Given the description of an element on the screen output the (x, y) to click on. 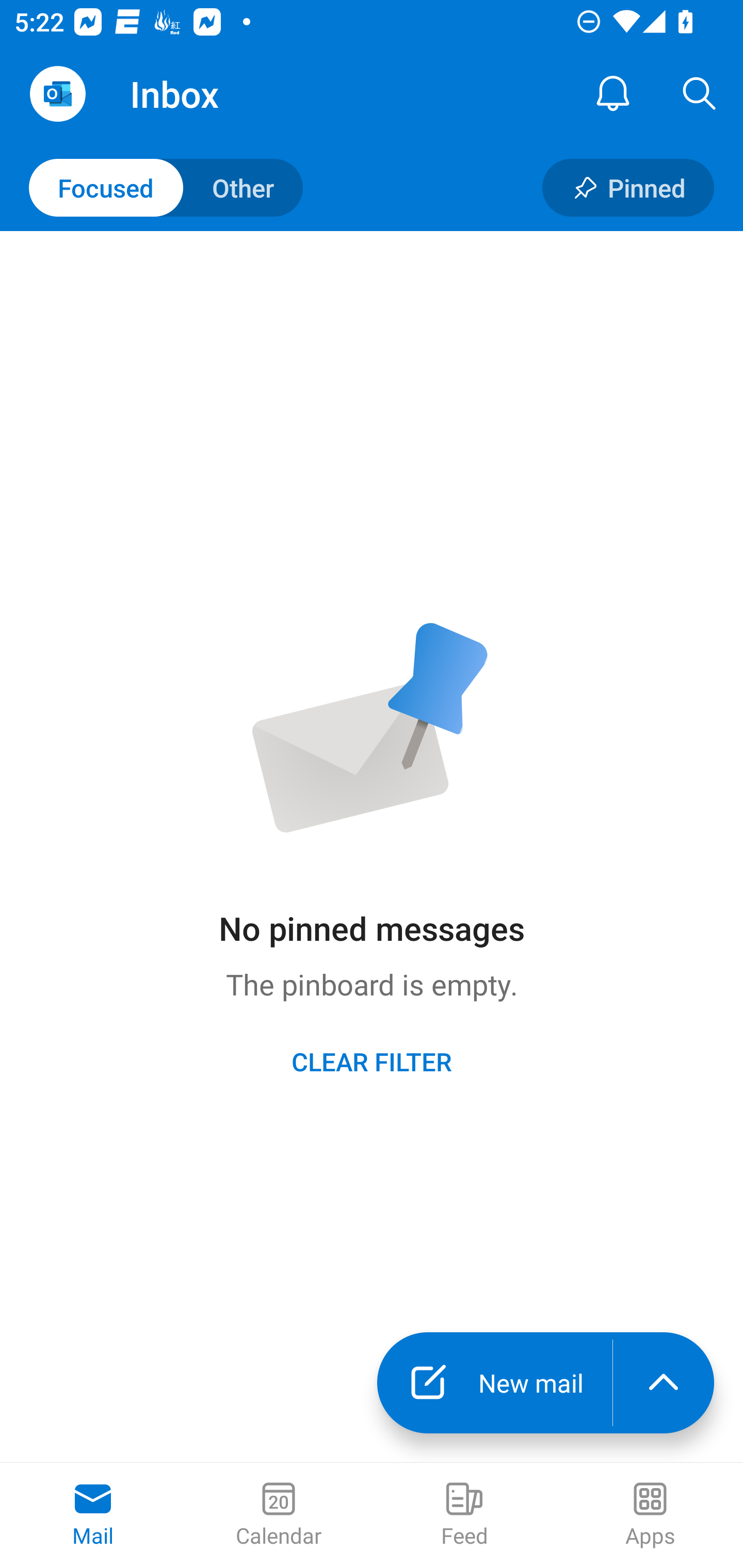
Notification Center (612, 93)
Search, ,  (699, 93)
Open Navigation Drawer (57, 94)
Toggle to other mails (165, 187)
CLEAR FILTER (371, 1061)
New mail (494, 1382)
launch the extended action menu (663, 1382)
Calendar (278, 1515)
Feed (464, 1515)
Apps (650, 1515)
